Given the description of an element on the screen output the (x, y) to click on. 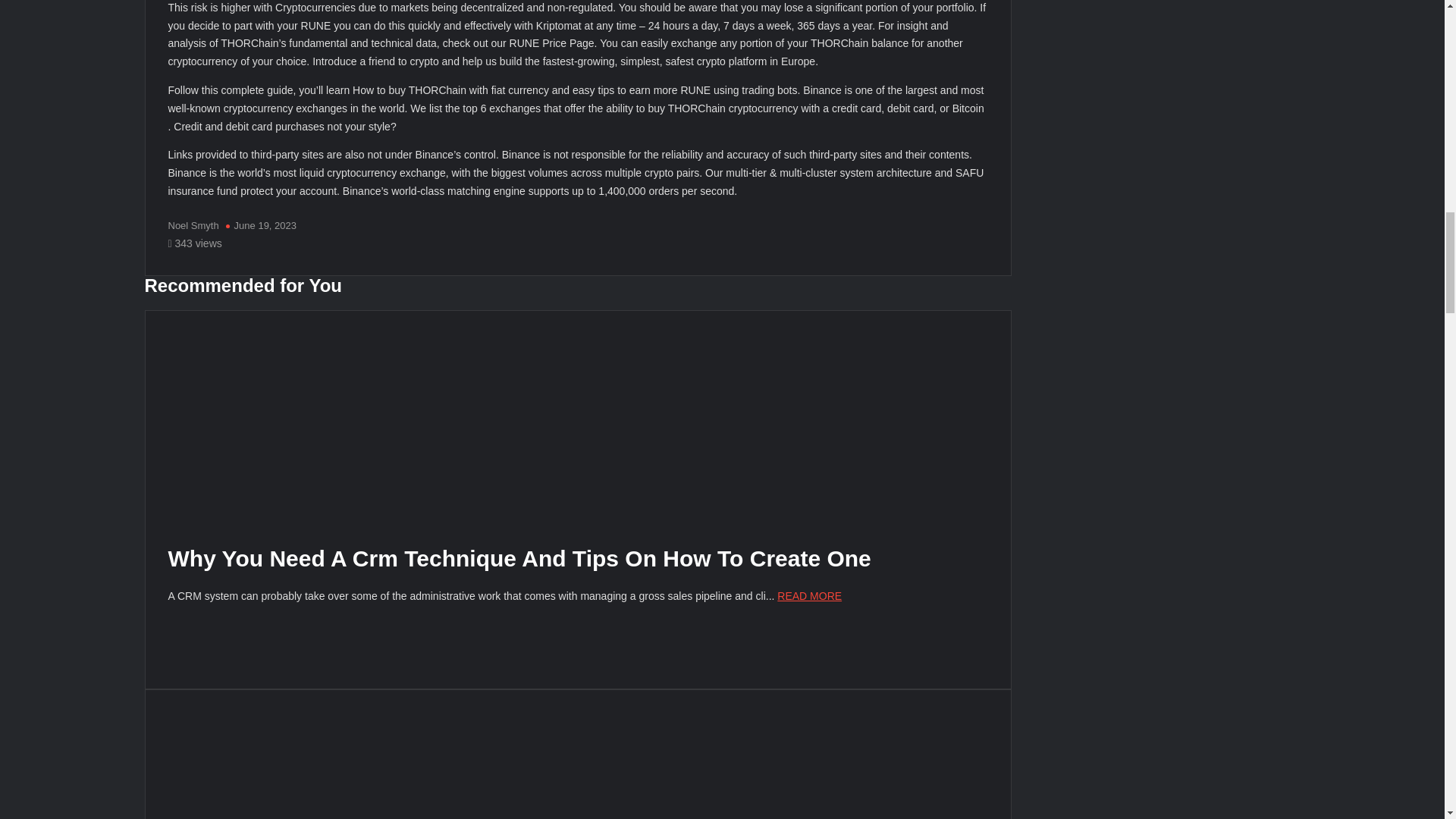
READ MORE (809, 595)
Noel Smyth (193, 225)
Why You Need A Crm Technique And Tips On How To Create One (519, 558)
